Given the description of an element on the screen output the (x, y) to click on. 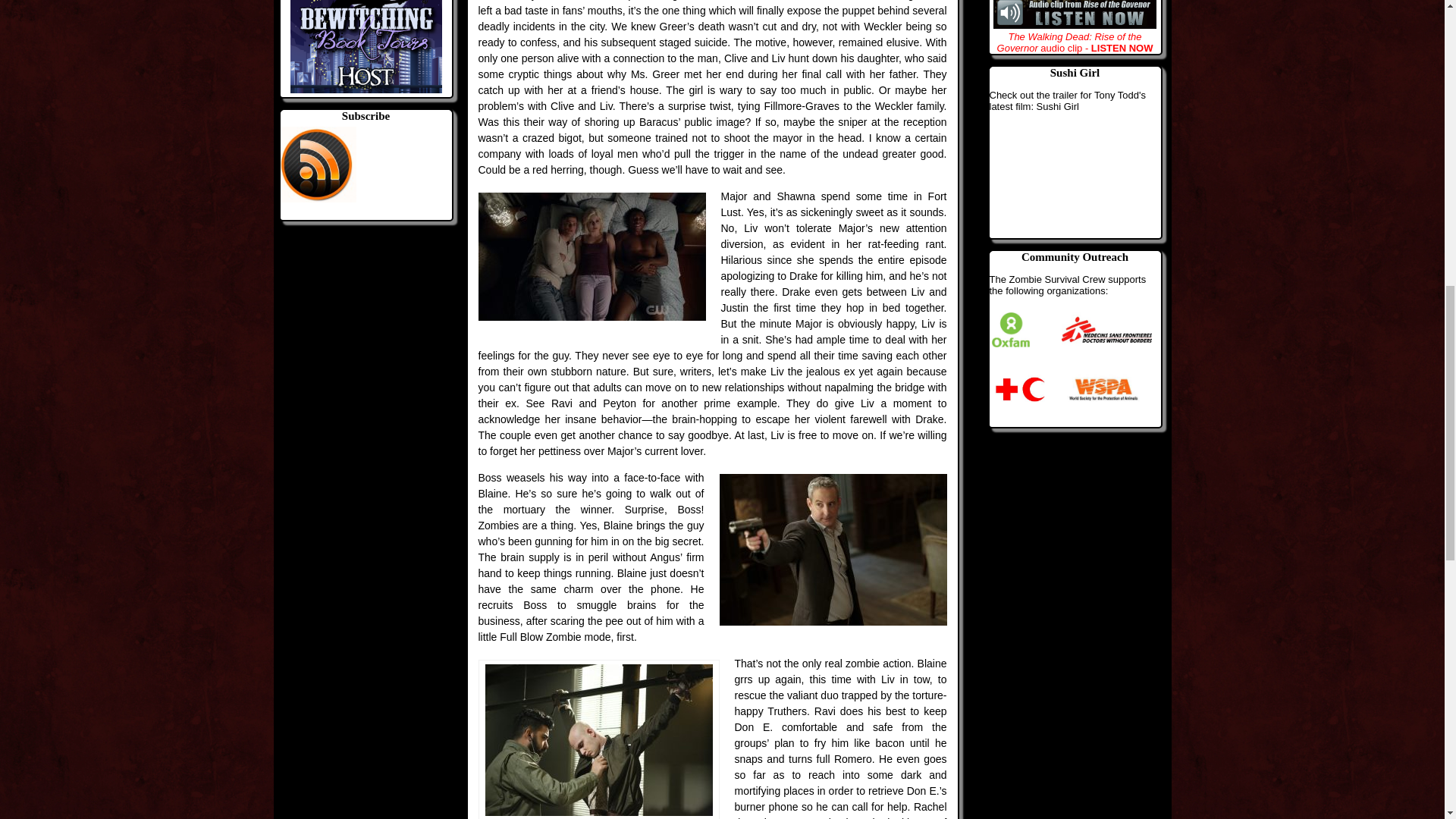
Oxfam1 (1010, 330)
Medecins-Sans-Frontieres-Logo (1106, 330)
RedCrossRedCrescent (1019, 389)
